Given the description of an element on the screen output the (x, y) to click on. 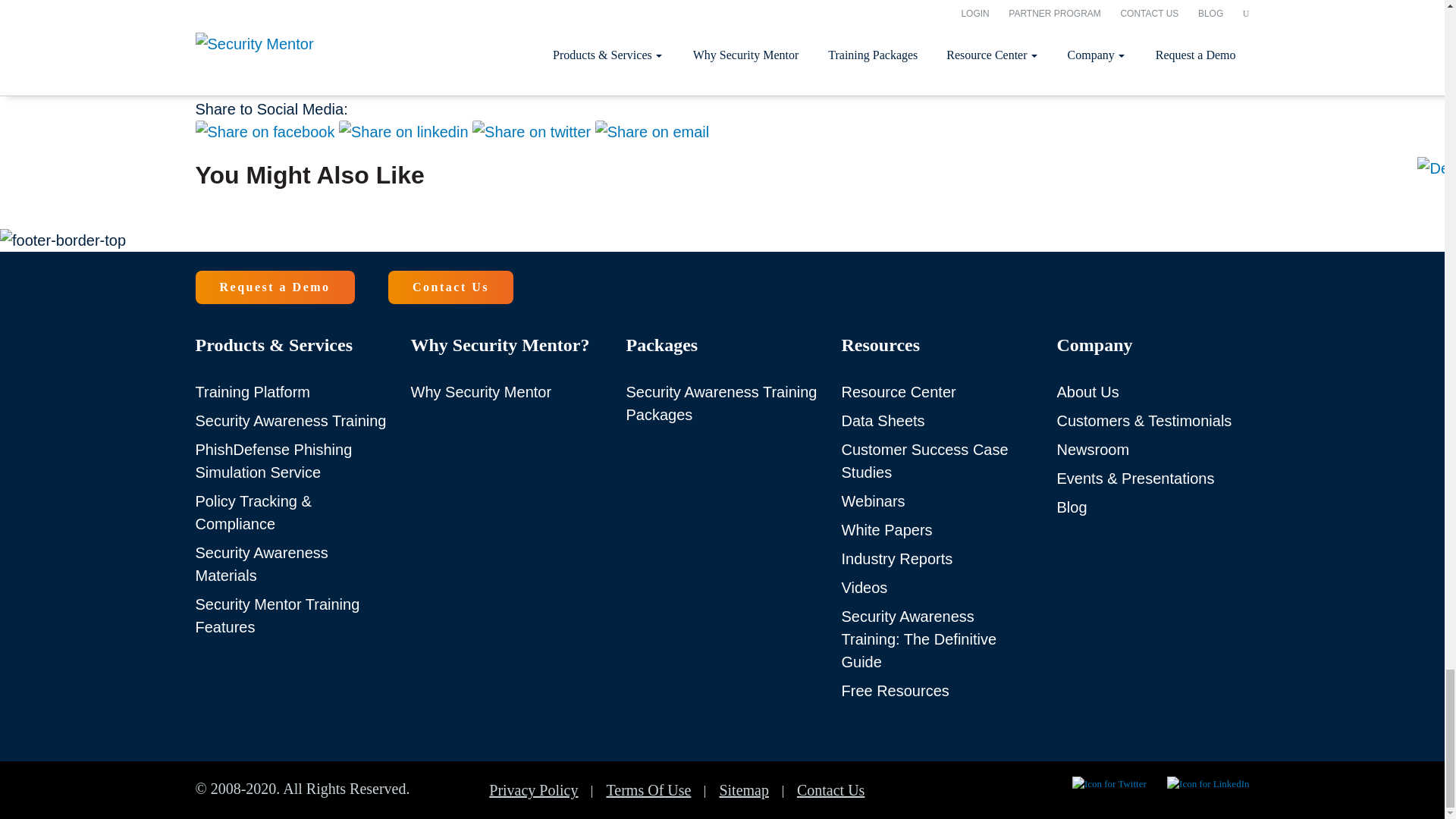
Twitter Icon (1109, 786)
LinkedIn Icon (1208, 786)
footer-border-top (62, 240)
